Given the description of an element on the screen output the (x, y) to click on. 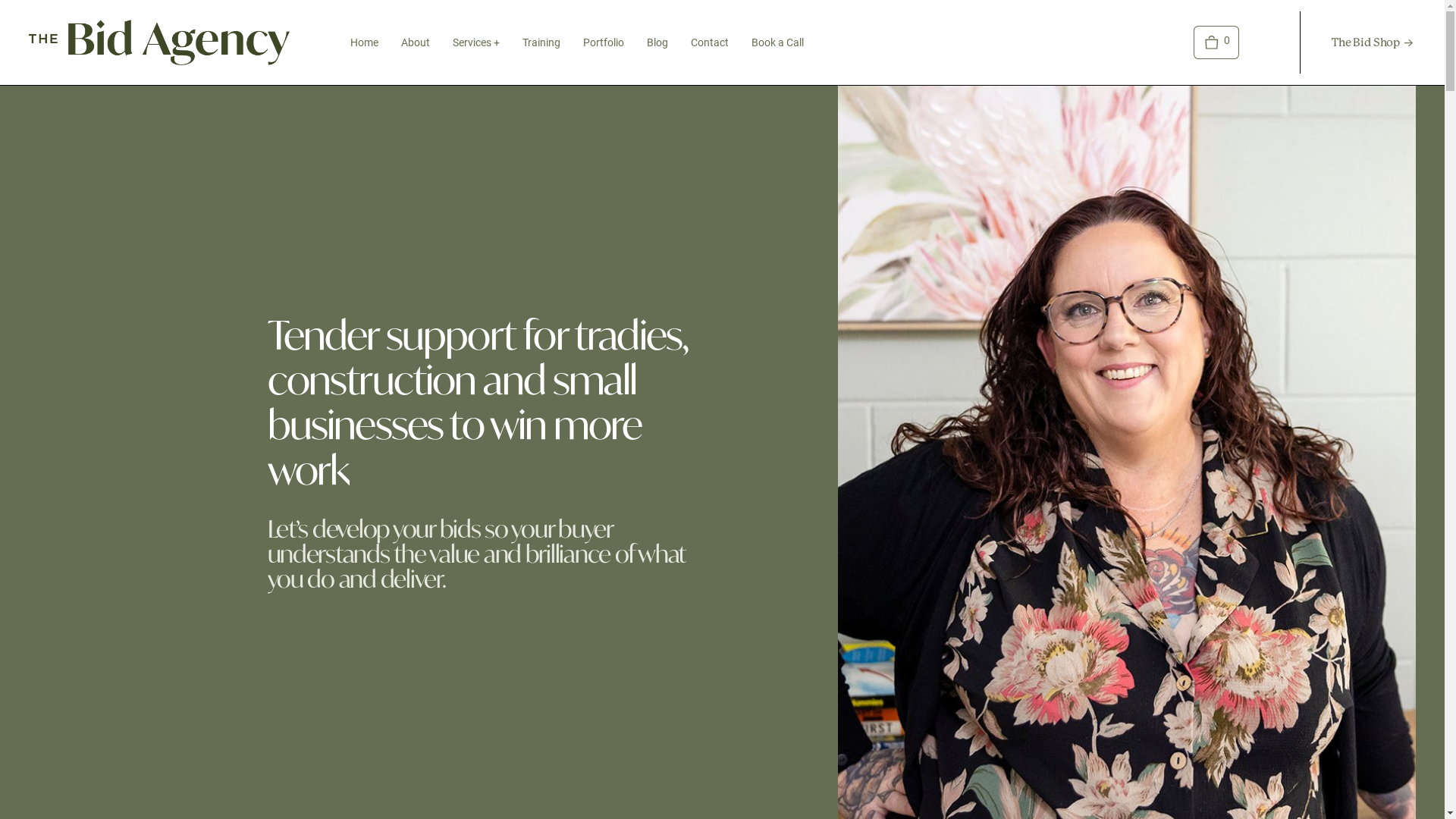
Blog Element type: text (657, 41)
Portfolio Element type: text (603, 41)
Contact Element type: text (709, 41)
Book a Call Element type: text (777, 41)
0 Element type: text (1216, 42)
Services + Element type: text (475, 41)
Home Element type: text (364, 41)
The Bid Shop Element type: text (1371, 42)
Training Element type: text (541, 41)
About Element type: text (415, 41)
